Given the description of an element on the screen output the (x, y) to click on. 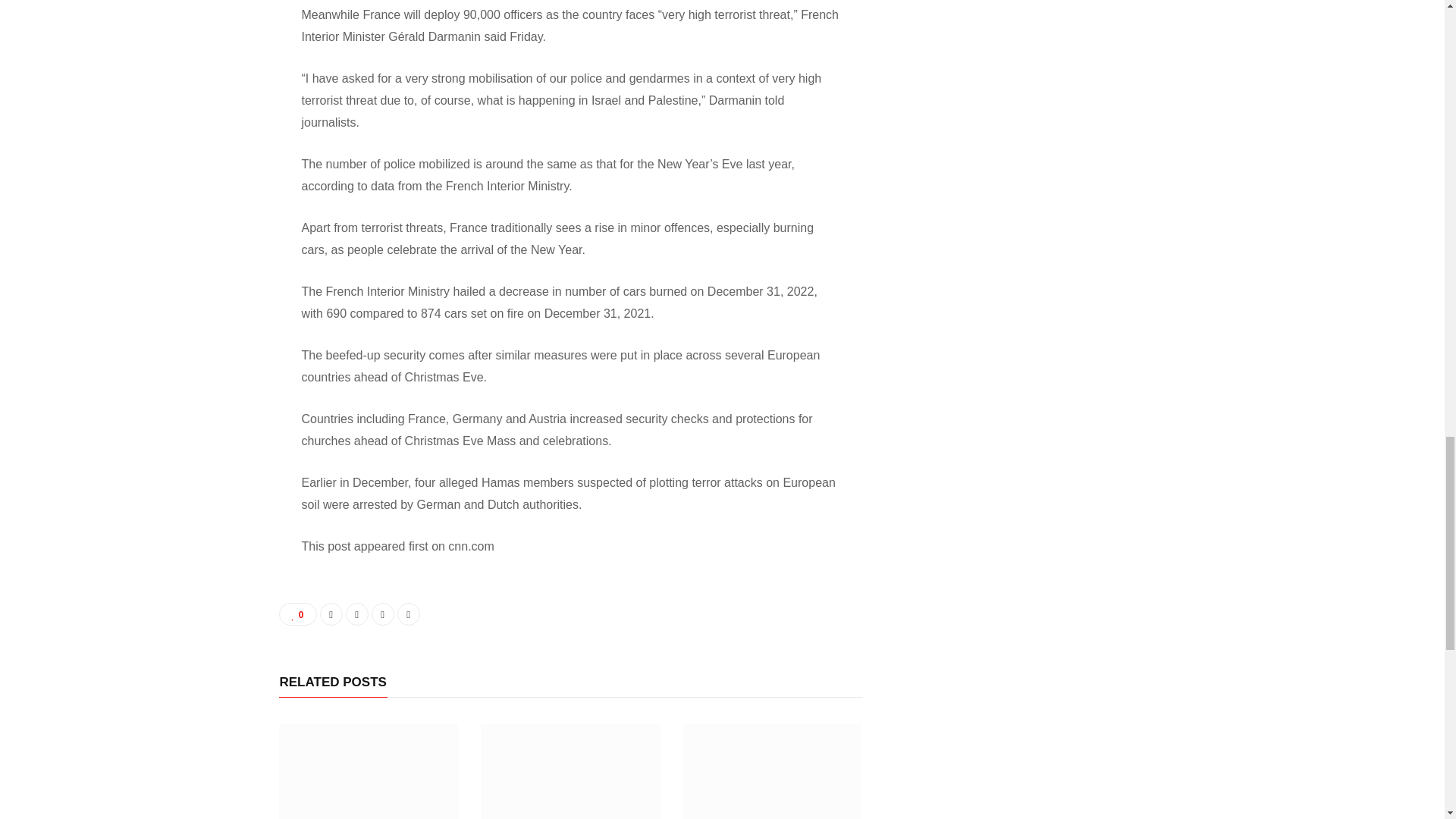
0 (298, 613)
